Given the description of an element on the screen output the (x, y) to click on. 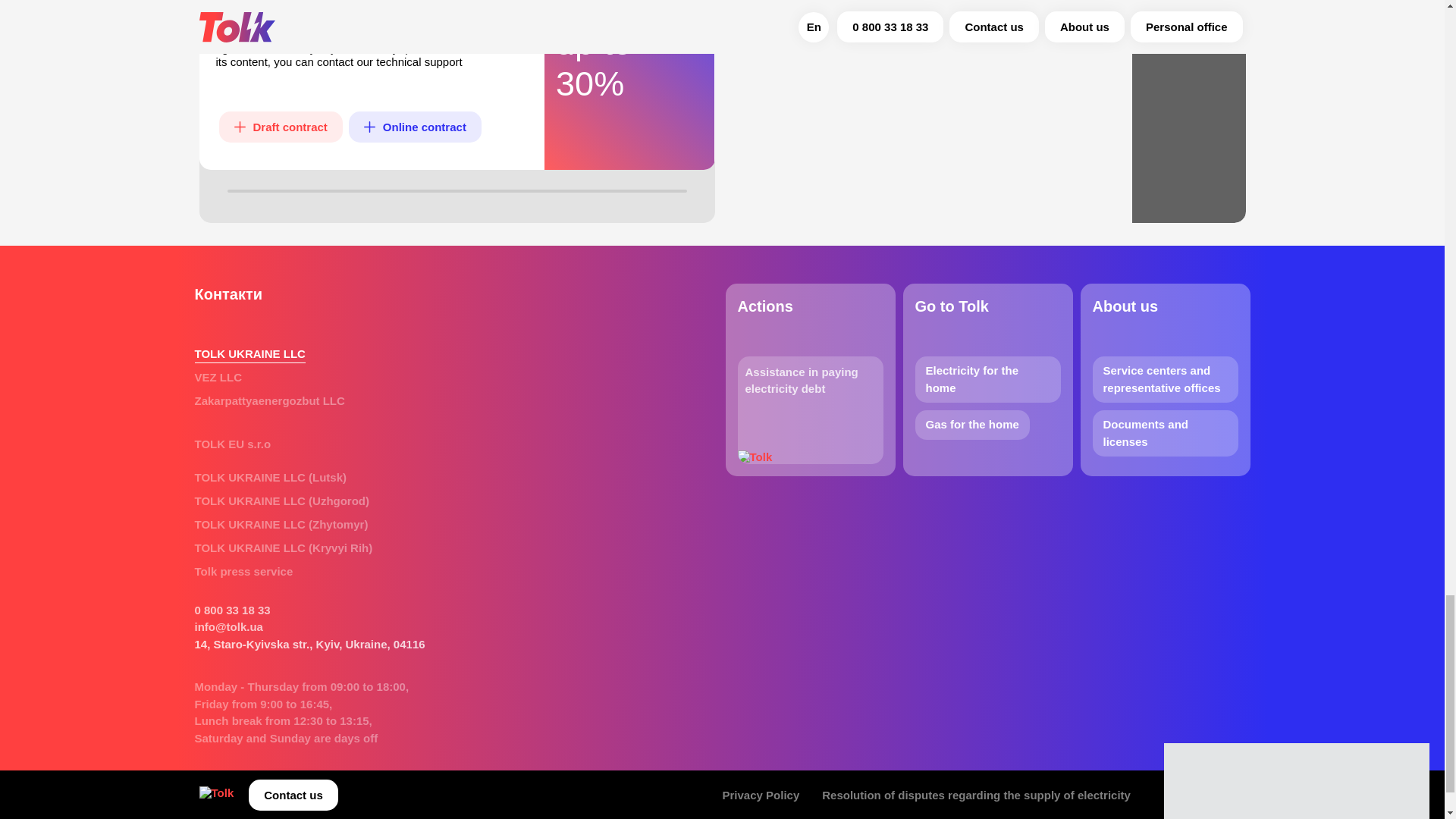
Draft contract (280, 126)
Online contract (415, 126)
